Given the description of an element on the screen output the (x, y) to click on. 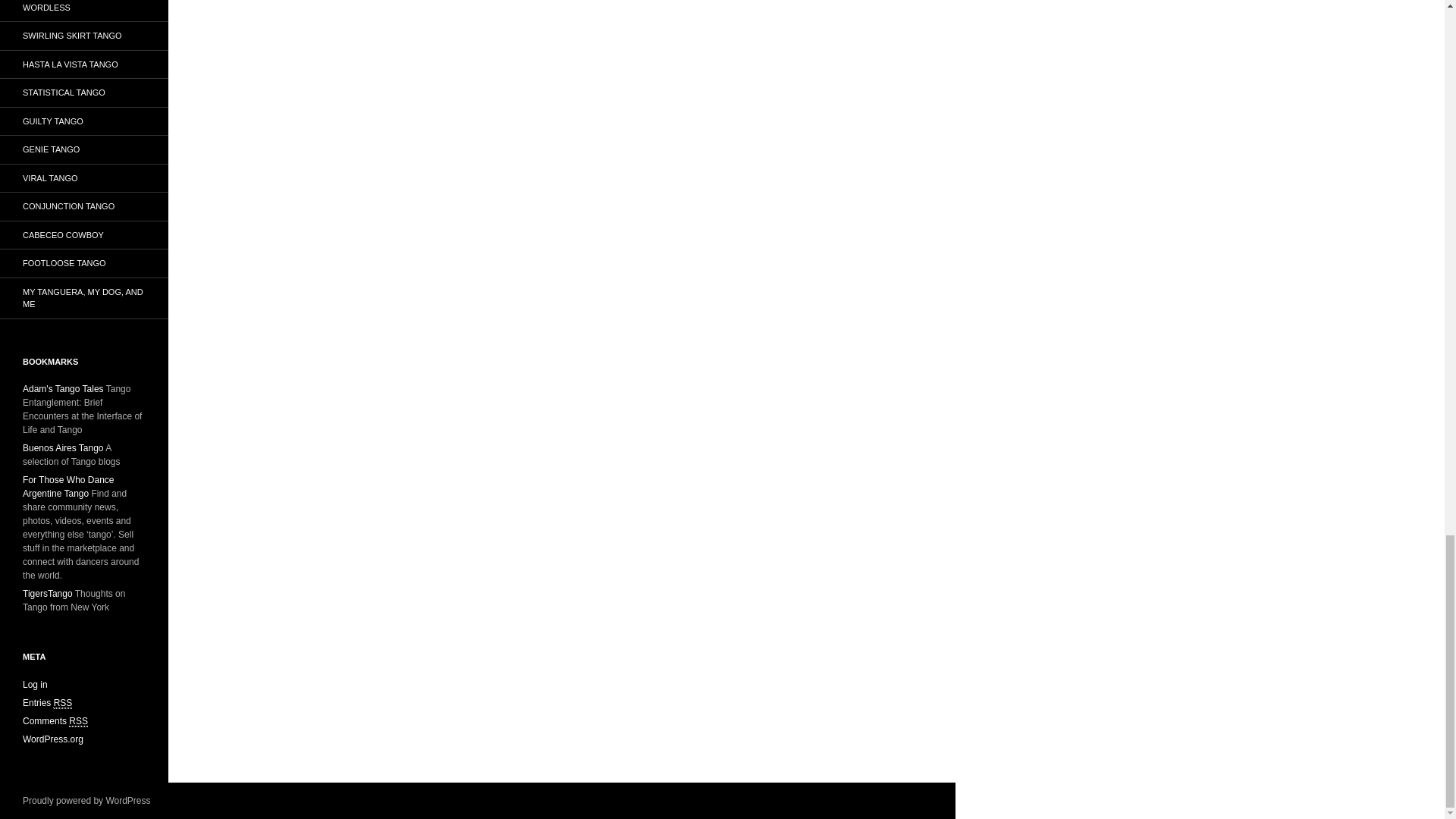
Really Simple Syndication (62, 703)
Really Simple Syndication (77, 721)
A selection of Tango blogs (63, 448)
Thoughts on Tango from New York (47, 593)
